Given the description of an element on the screen output the (x, y) to click on. 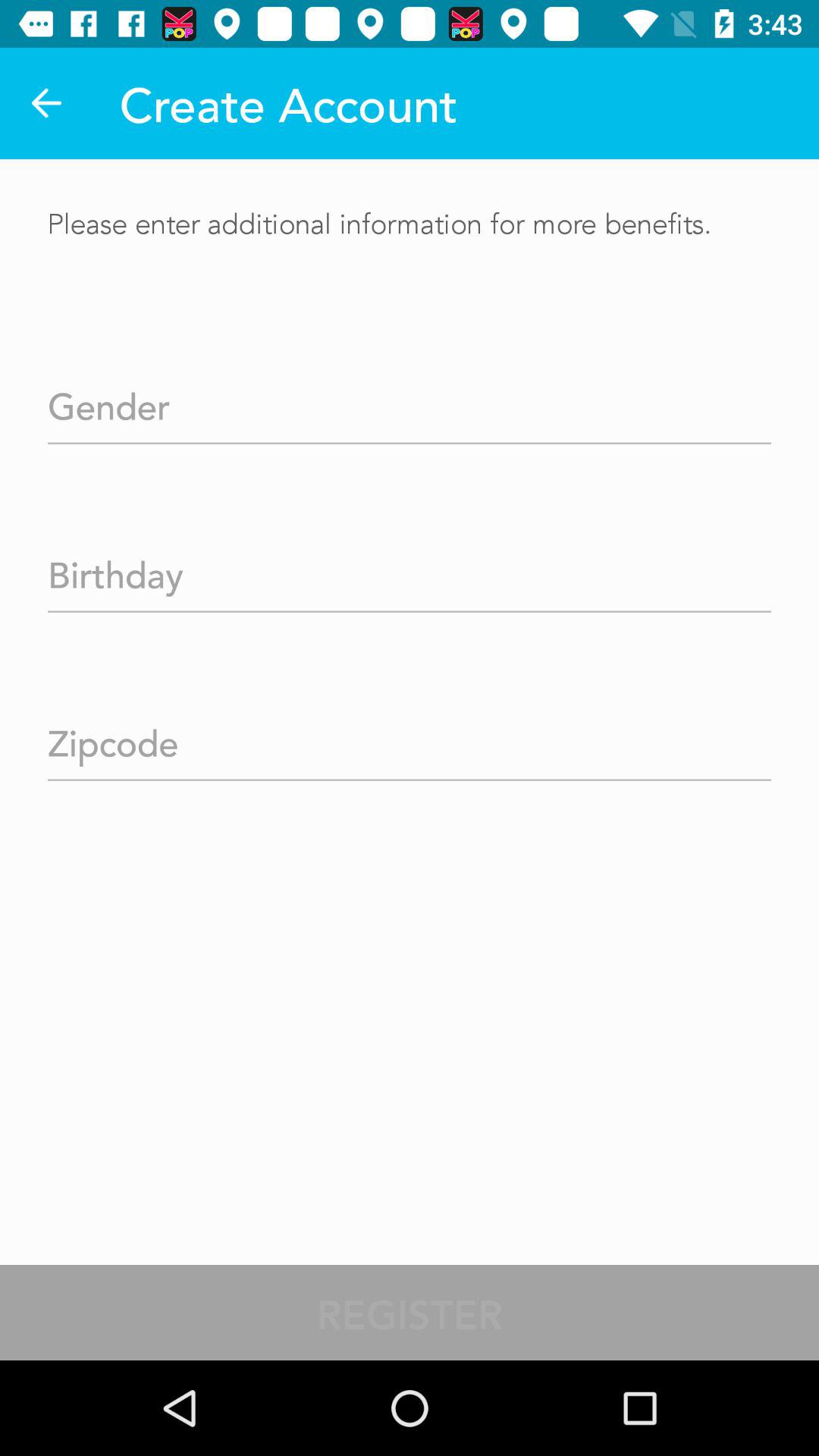
information box (409, 401)
